Given the description of an element on the screen output the (x, y) to click on. 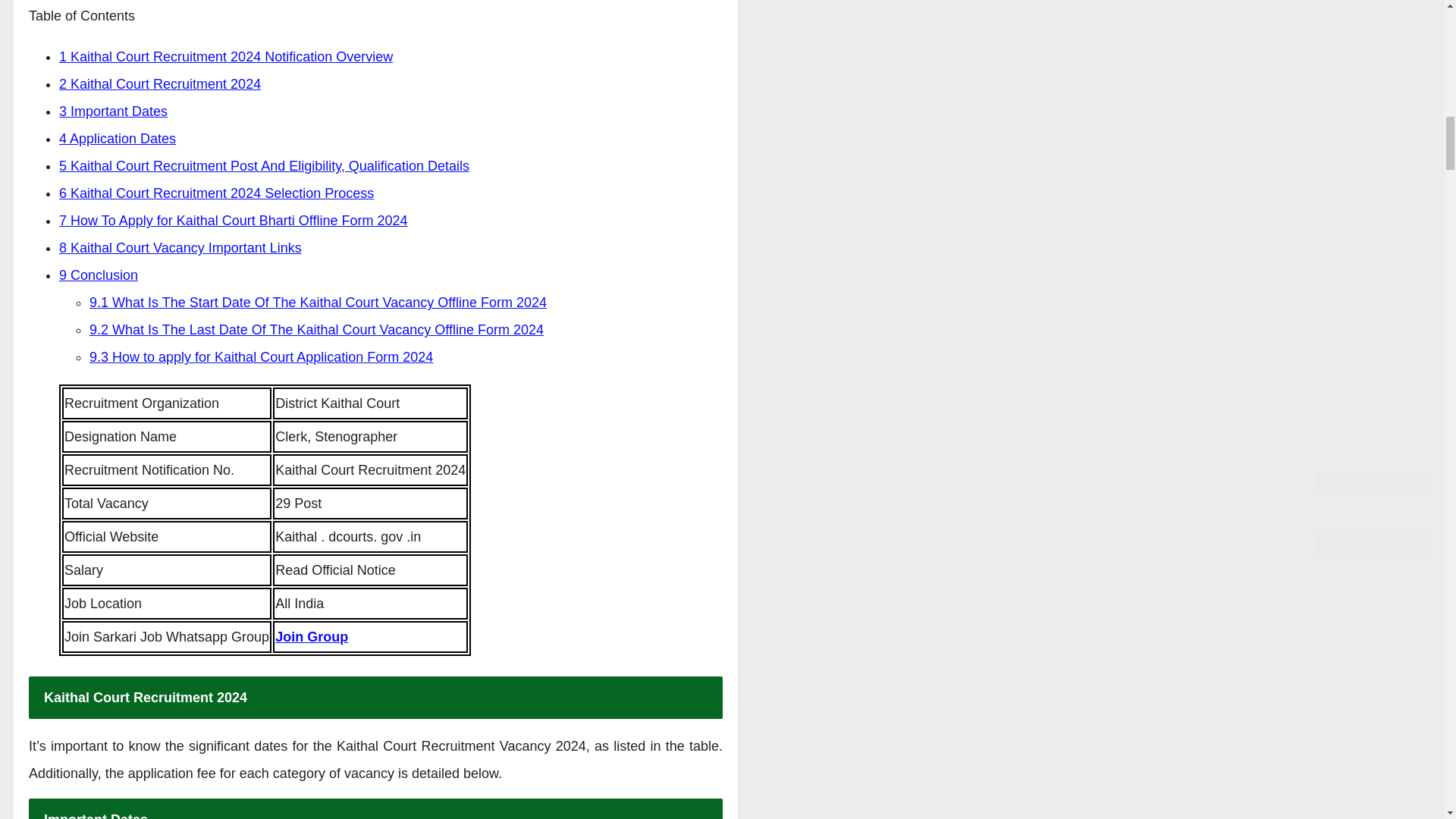
6 Kaithal Court Recruitment 2024 Selection Process (216, 192)
3 Important Dates (113, 111)
8 Kaithal Court Vacancy Important Links (180, 247)
7 How To Apply for Kaithal Court Bharti Offline Form 2024 (233, 220)
2 Kaithal Court Recruitment 2024 (159, 83)
9 Conclusion (98, 274)
4 Application Dates (117, 138)
1 Kaithal Court Recruitment 2024 Notification Overview (226, 56)
